Given the description of an element on the screen output the (x, y) to click on. 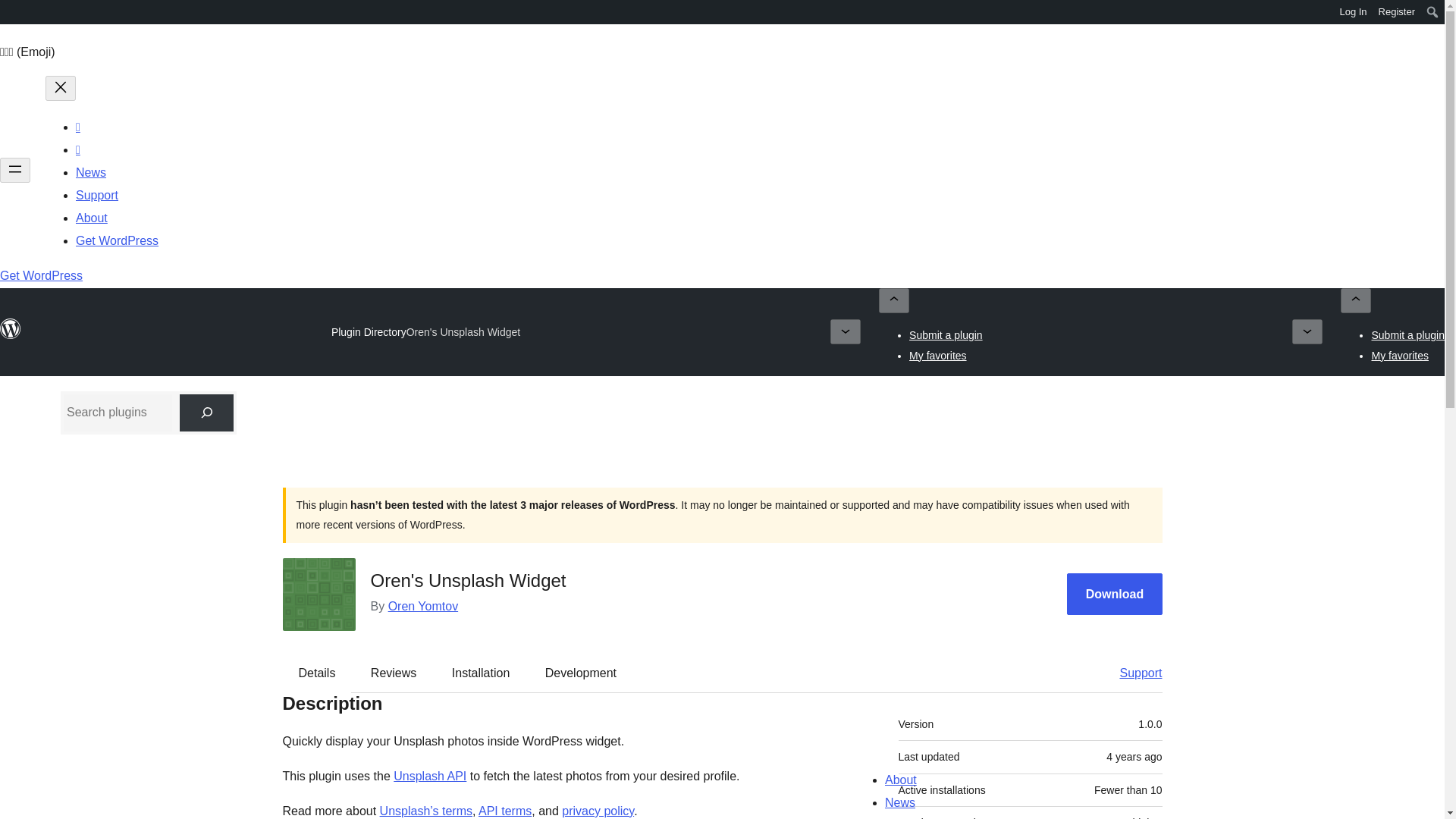
Installation (480, 673)
About (91, 217)
Get WordPress (116, 240)
Support (1132, 673)
Development (580, 673)
Oren Yomtov (423, 605)
Log In (1353, 12)
WordPress.org (10, 10)
Download (1114, 594)
Unsplash API (429, 775)
